Given the description of an element on the screen output the (x, y) to click on. 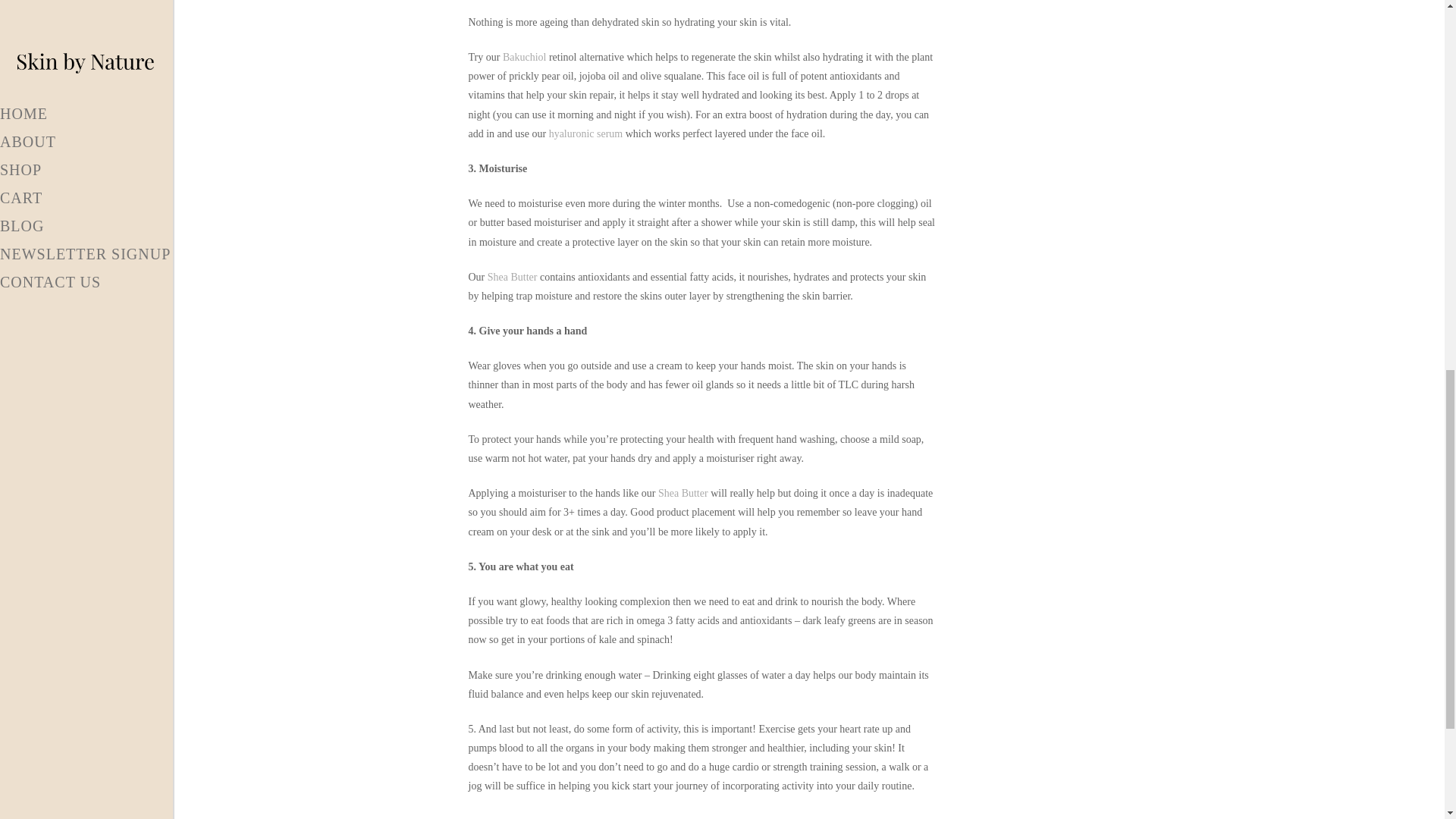
Bakuchiol (524, 57)
hyaluronic serum (585, 133)
Shea Butter (512, 276)
Shea Butter (682, 492)
